Given the description of an element on the screen output the (x, y) to click on. 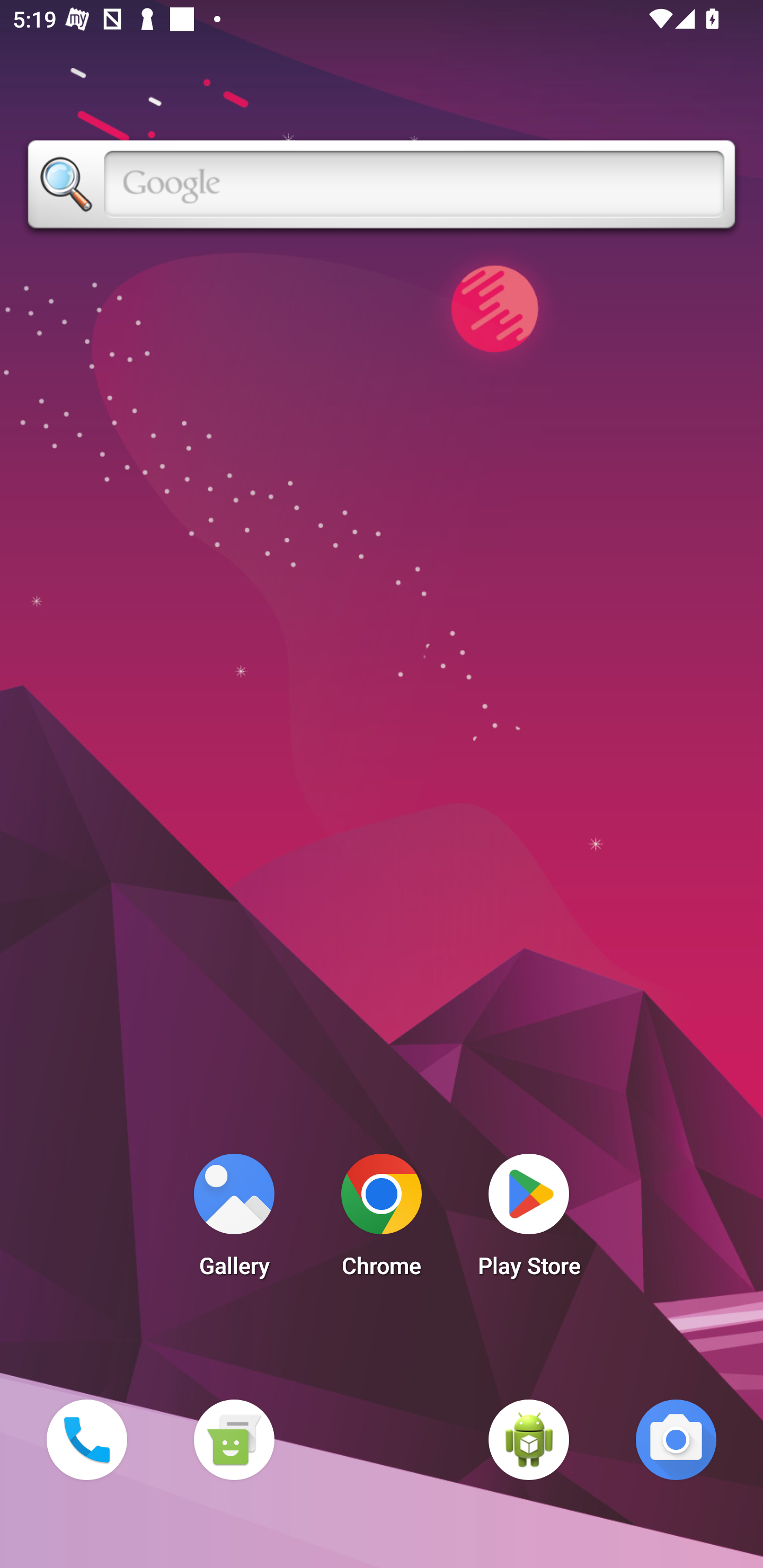
Gallery (233, 1220)
Chrome (381, 1220)
Play Store (528, 1220)
Phone (86, 1439)
Messaging (233, 1439)
WebView Browser Tester (528, 1439)
Camera (676, 1439)
